Given the description of an element on the screen output the (x, y) to click on. 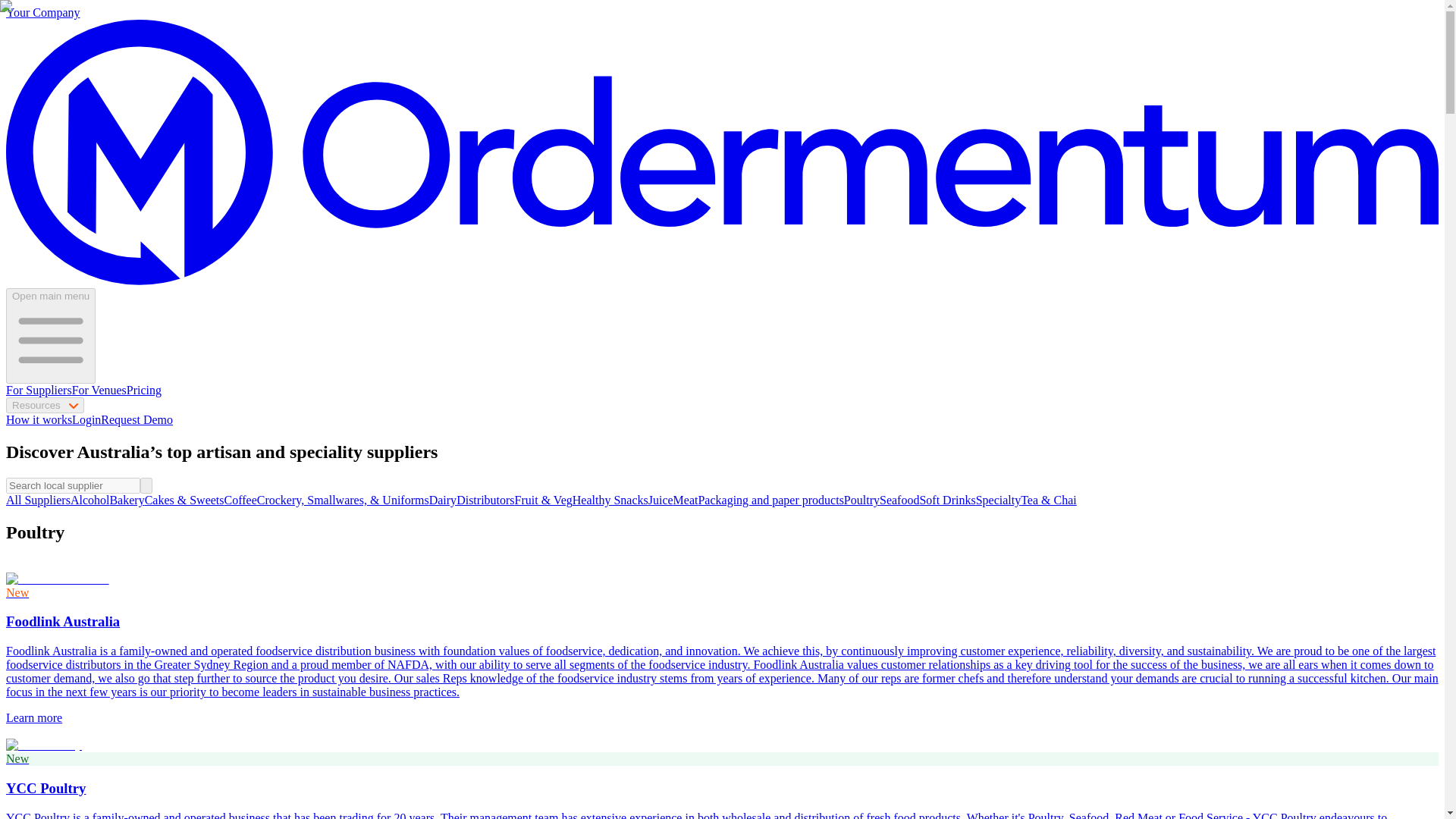
Request Demo (136, 419)
For Venues (98, 390)
Dairy (443, 499)
Open main menu (50, 336)
Healthy Snacks (609, 499)
How it works (38, 419)
Meat (685, 499)
Pricing (143, 390)
Resources   (44, 405)
Bakery (126, 499)
